Given the description of an element on the screen output the (x, y) to click on. 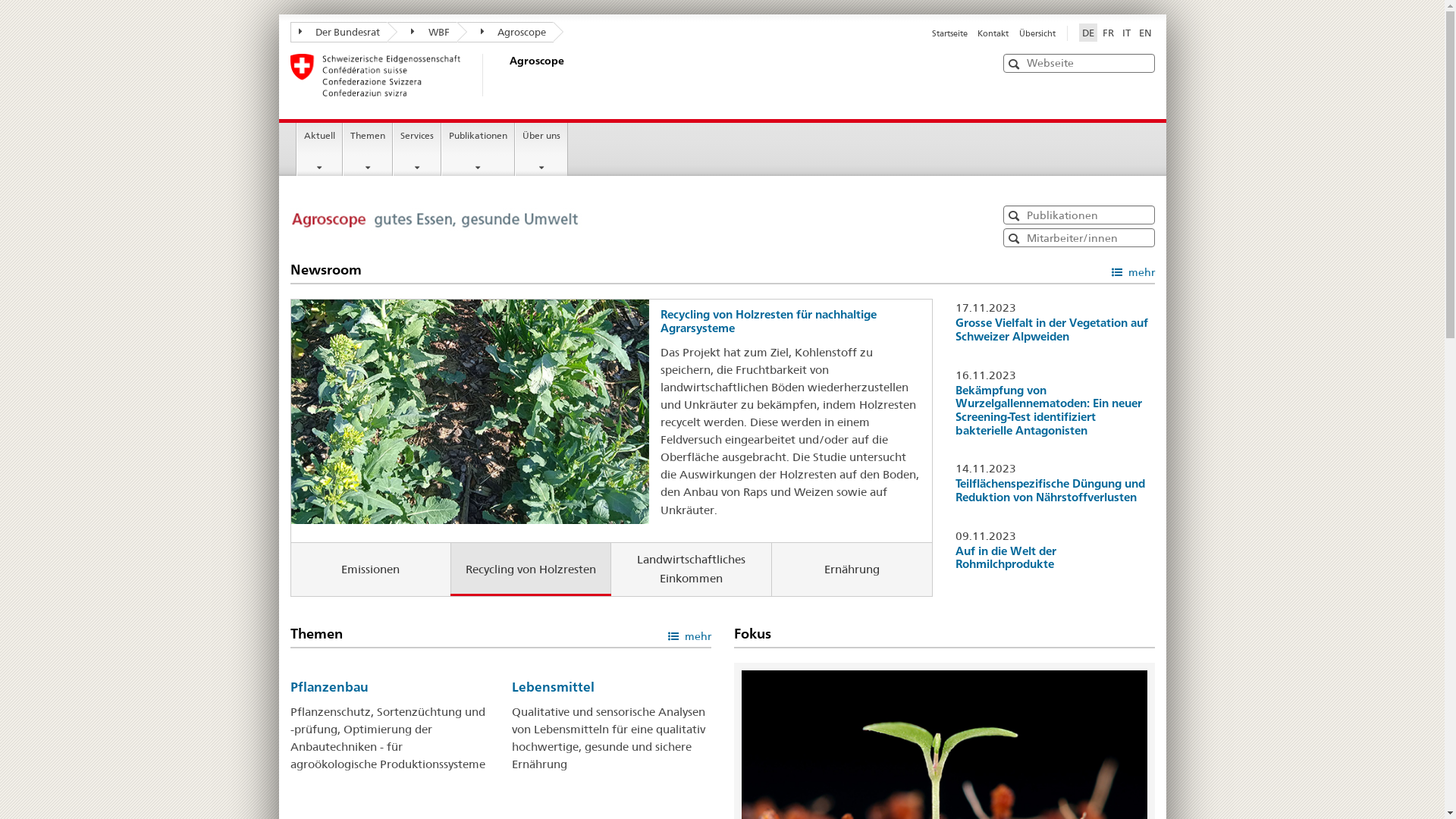
Themen Element type: text (367, 148)
IT Element type: text (1126, 32)
mehr Element type: text (688, 634)
Kontakt Element type: text (992, 33)
Landwirtschaftliches Einkommen Element type: text (691, 568)
Lebensmittel Element type: text (552, 686)
Pflanzenbau Element type: text (328, 686)
FR Element type: text (1108, 32)
DE Element type: text (1087, 32)
Grosse Vielfalt in der Vegetation auf Schweizer Alpweiden Element type: text (1051, 329)
Der Bundesrat Element type: text (338, 31)
Recycling von Holzresten Element type: text (531, 568)
Auf in die Welt der Rohmilchprodukte Element type: text (1005, 557)
Services Element type: text (416, 148)
Agroscope Element type: text (504, 31)
Publikationen Element type: text (478, 148)
WBF Element type: text (422, 31)
EN Element type: text (1144, 32)
Startseite Element type: text (949, 33)
Aktuell Element type: text (319, 148)
mehr Element type: text (1132, 270)
Agroscope Element type: text (505, 74)
Emissionen Element type: text (371, 568)
